Given the description of an element on the screen output the (x, y) to click on. 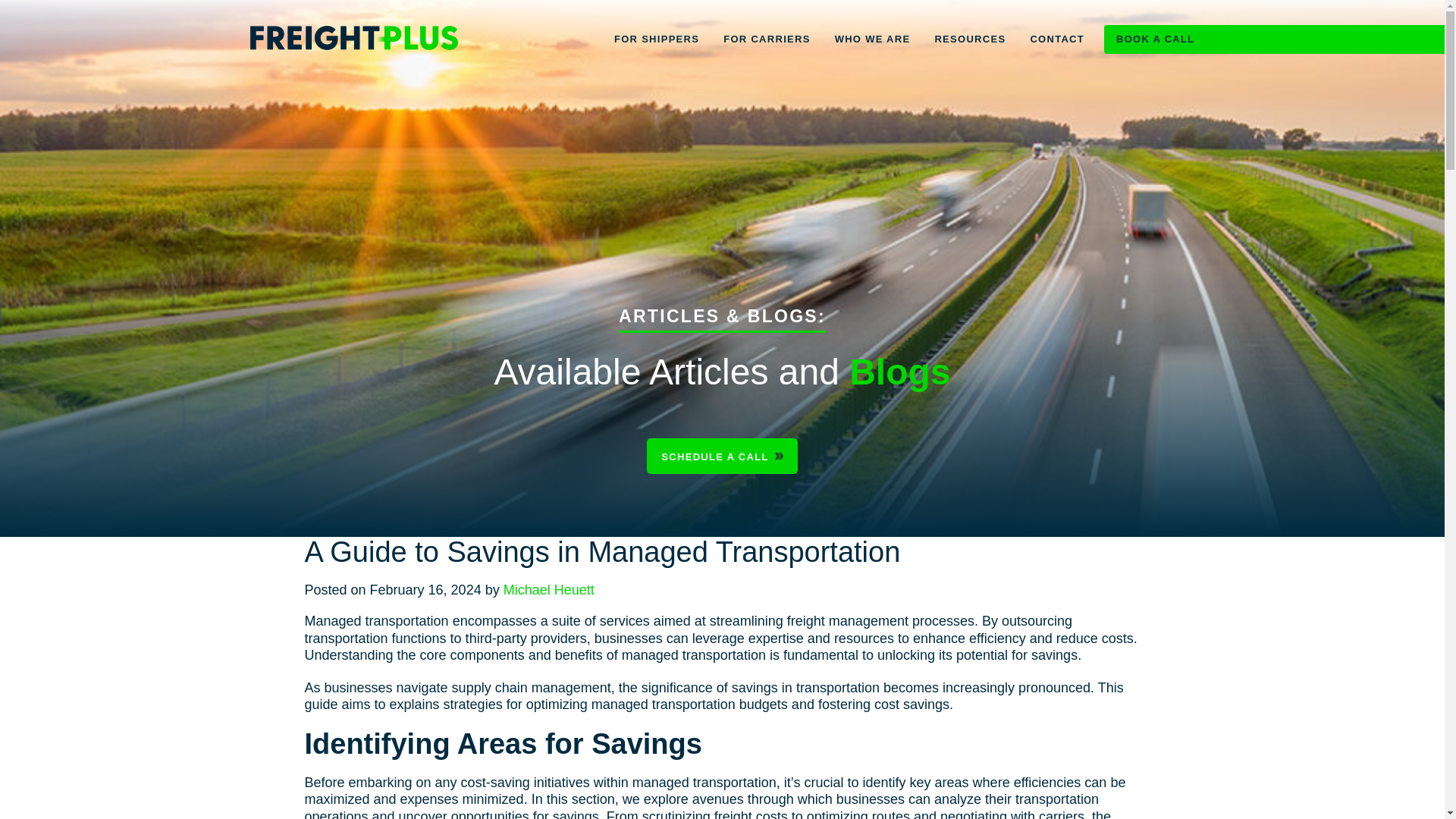
BOOK A CALL (1149, 39)
RESOURCES (969, 39)
WHO WE ARE (872, 39)
FOR SHIPPERS (656, 39)
FOR CARRIERS (766, 39)
CONTACT (1056, 39)
